Given the description of an element on the screen output the (x, y) to click on. 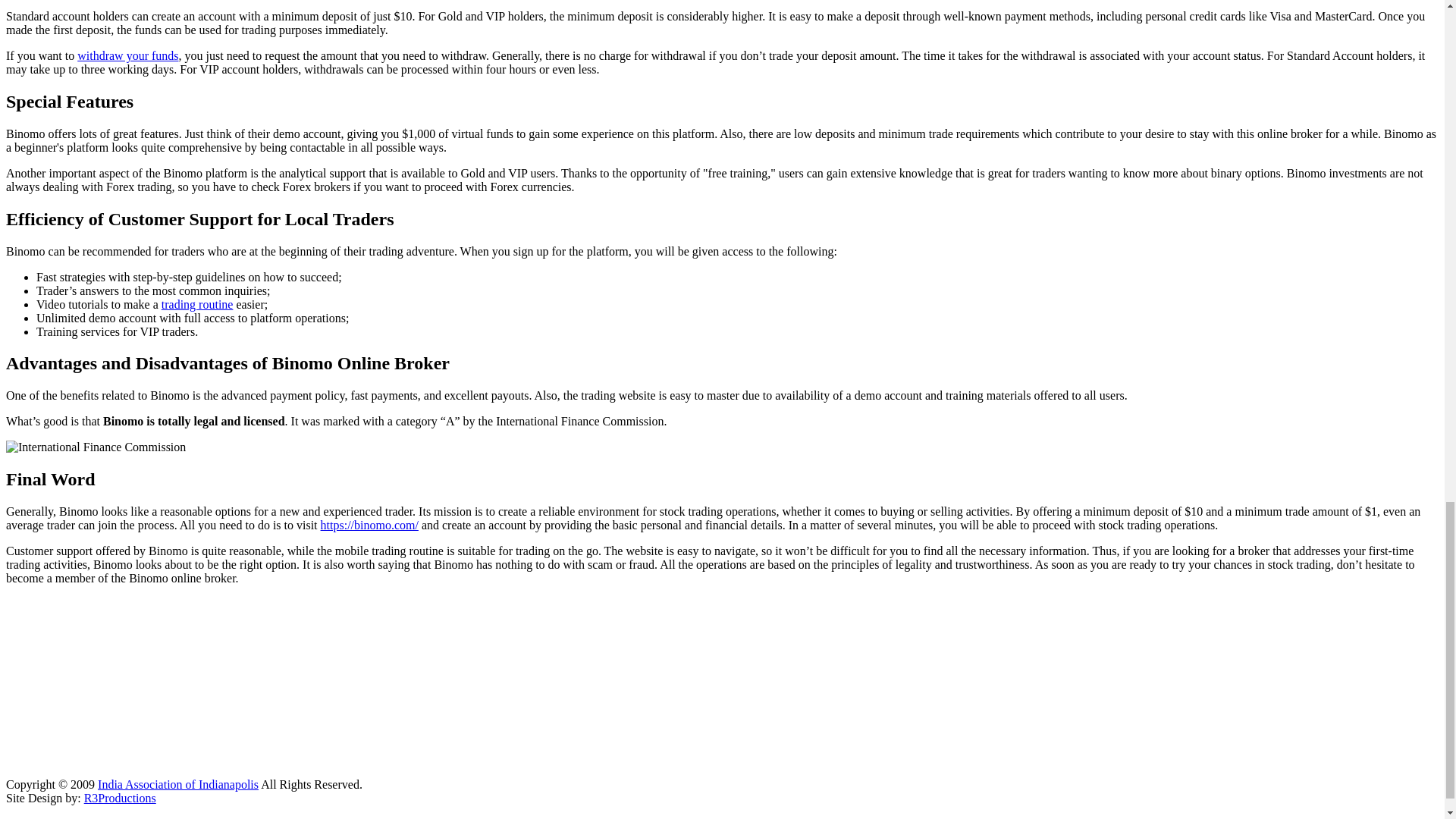
trading routine (196, 304)
withdraw your funds (127, 55)
R3Productions (119, 797)
India Association of Indianapolis (178, 784)
